Given the description of an element on the screen output the (x, y) to click on. 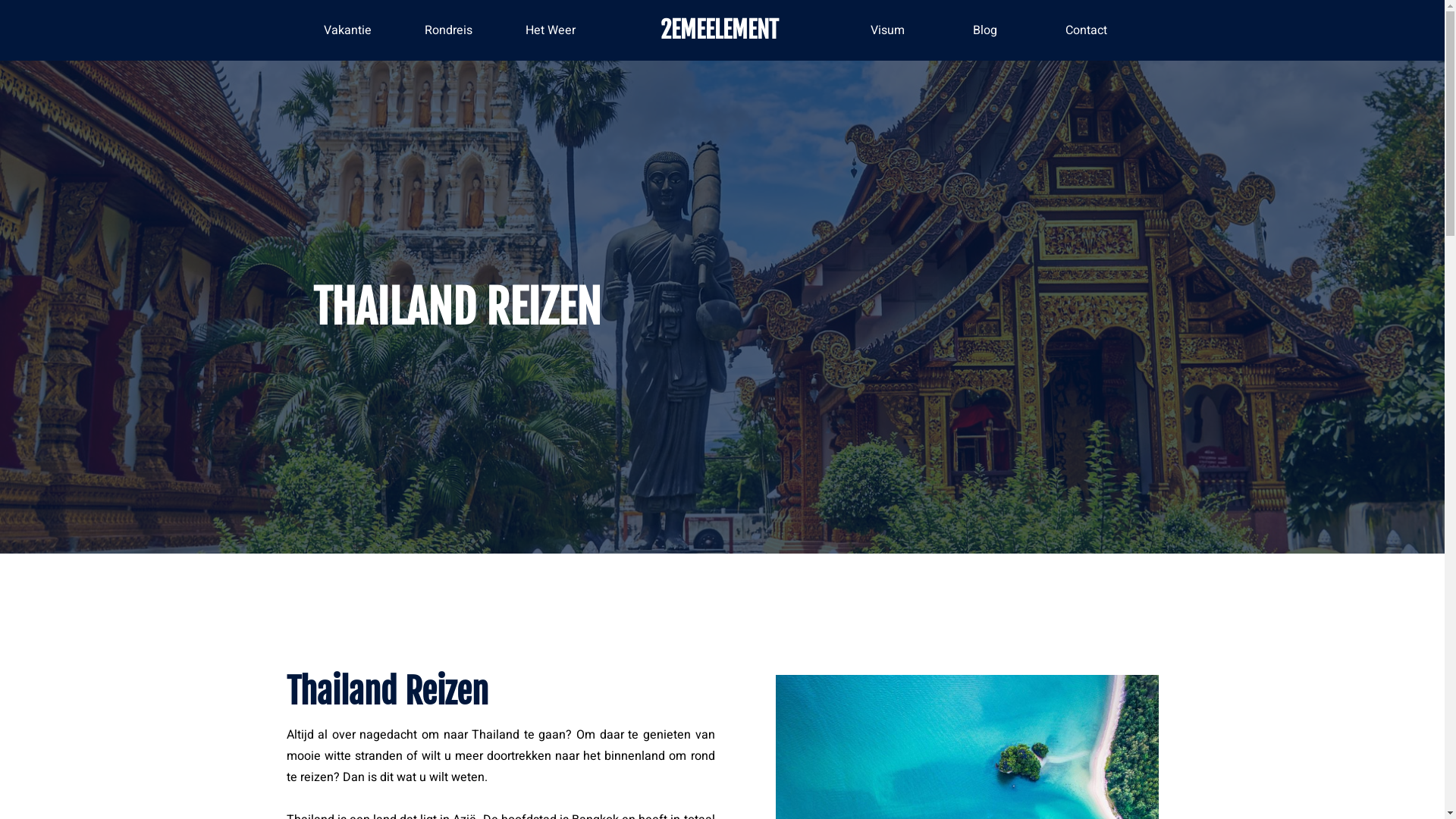
Blog Element type: text (984, 29)
Het Weer Element type: text (550, 29)
Contact Element type: text (1086, 29)
2EMEELEMENT Element type: text (719, 29)
Rondreis Element type: text (448, 29)
Vakantie Element type: text (347, 29)
Visum Element type: text (887, 29)
